Given the description of an element on the screen output the (x, y) to click on. 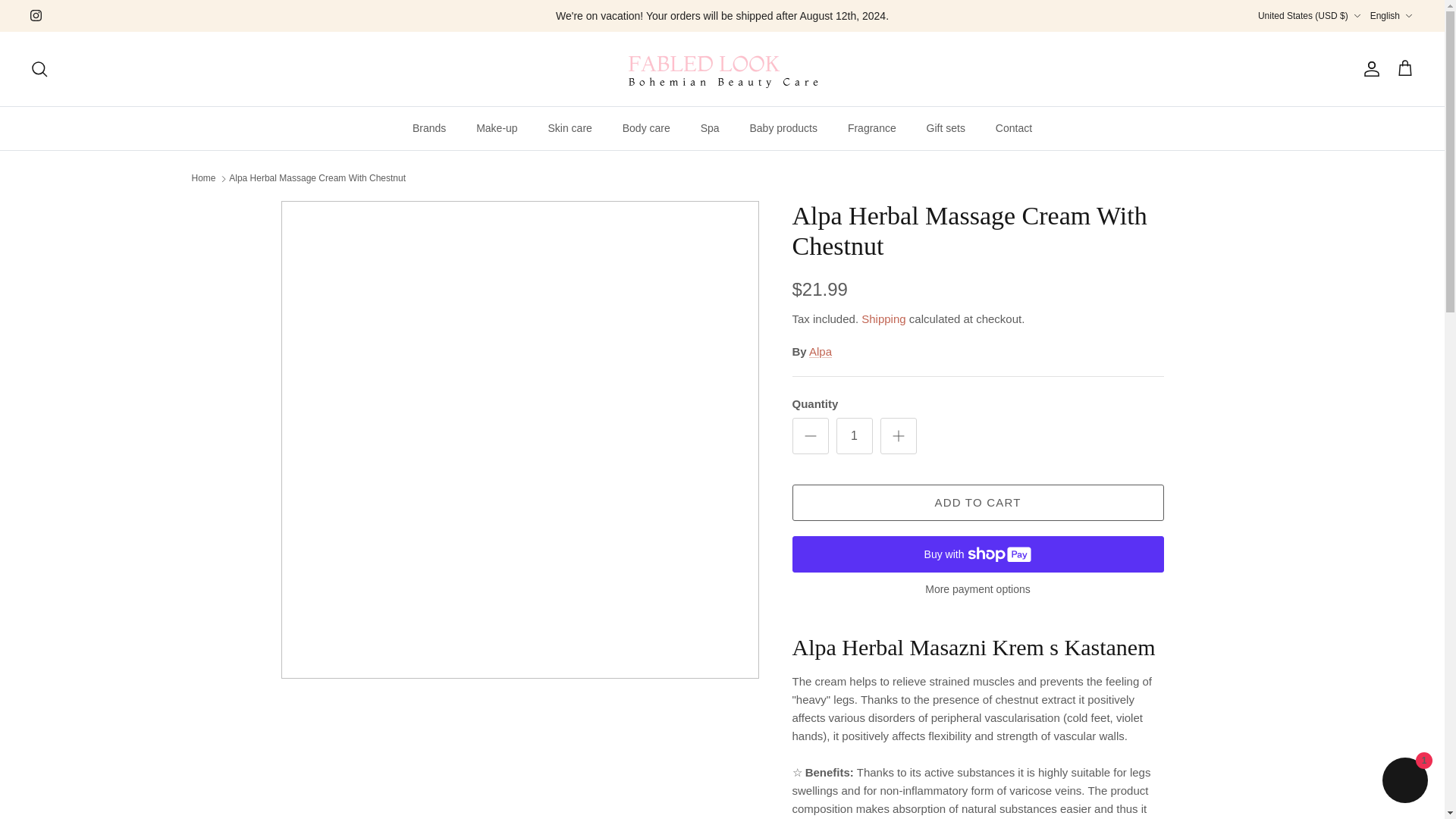
1 (853, 435)
Down (1357, 15)
Shopify online store chat (1404, 781)
Fabled Look (722, 68)
Instagram (36, 15)
Minus (809, 435)
Down (1408, 15)
Plus (897, 435)
Instagram (36, 15)
